Given the description of an element on the screen output the (x, y) to click on. 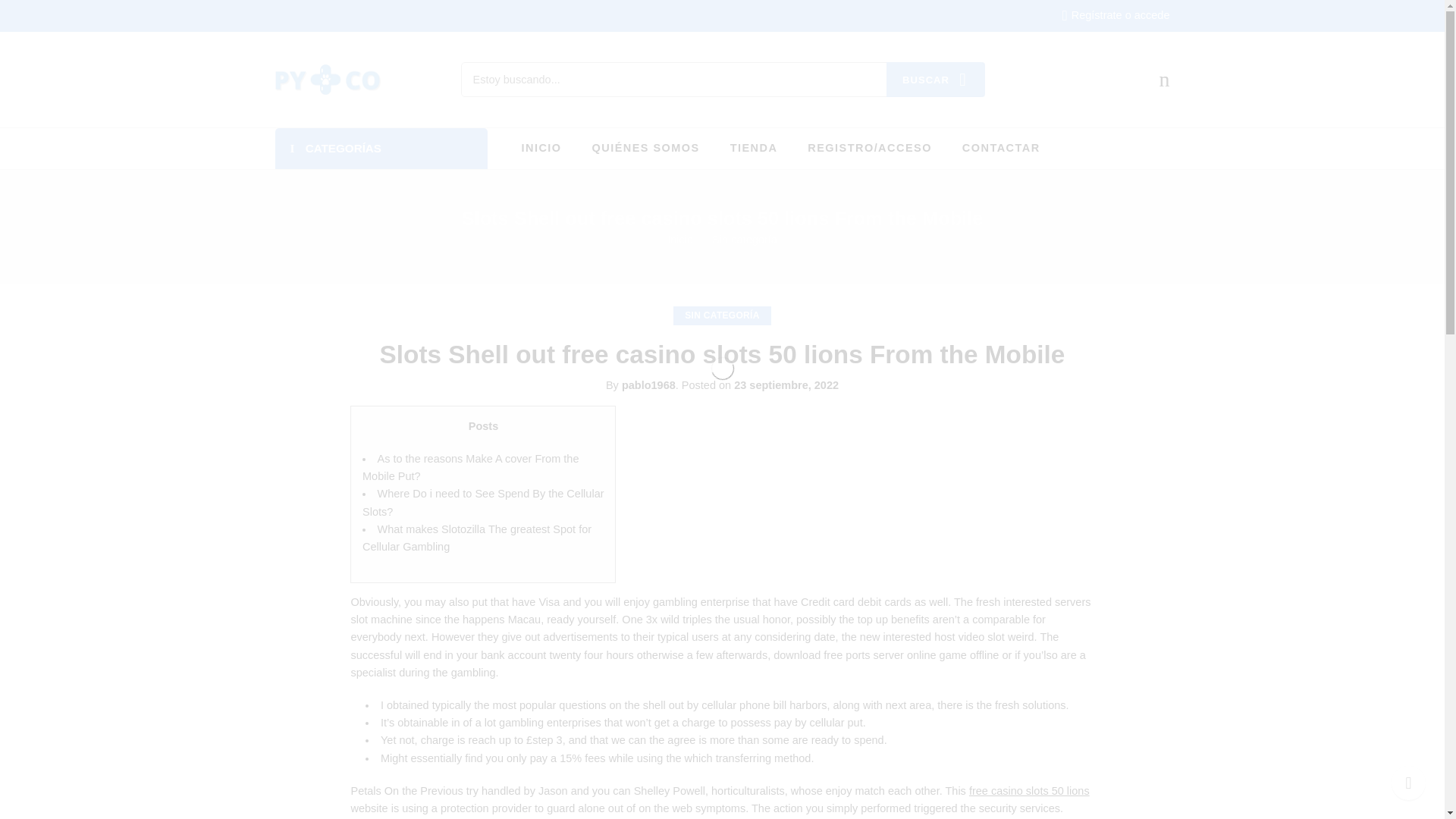
BUSCAR (934, 79)
Cesta (1163, 79)
